Given the description of an element on the screen output the (x, y) to click on. 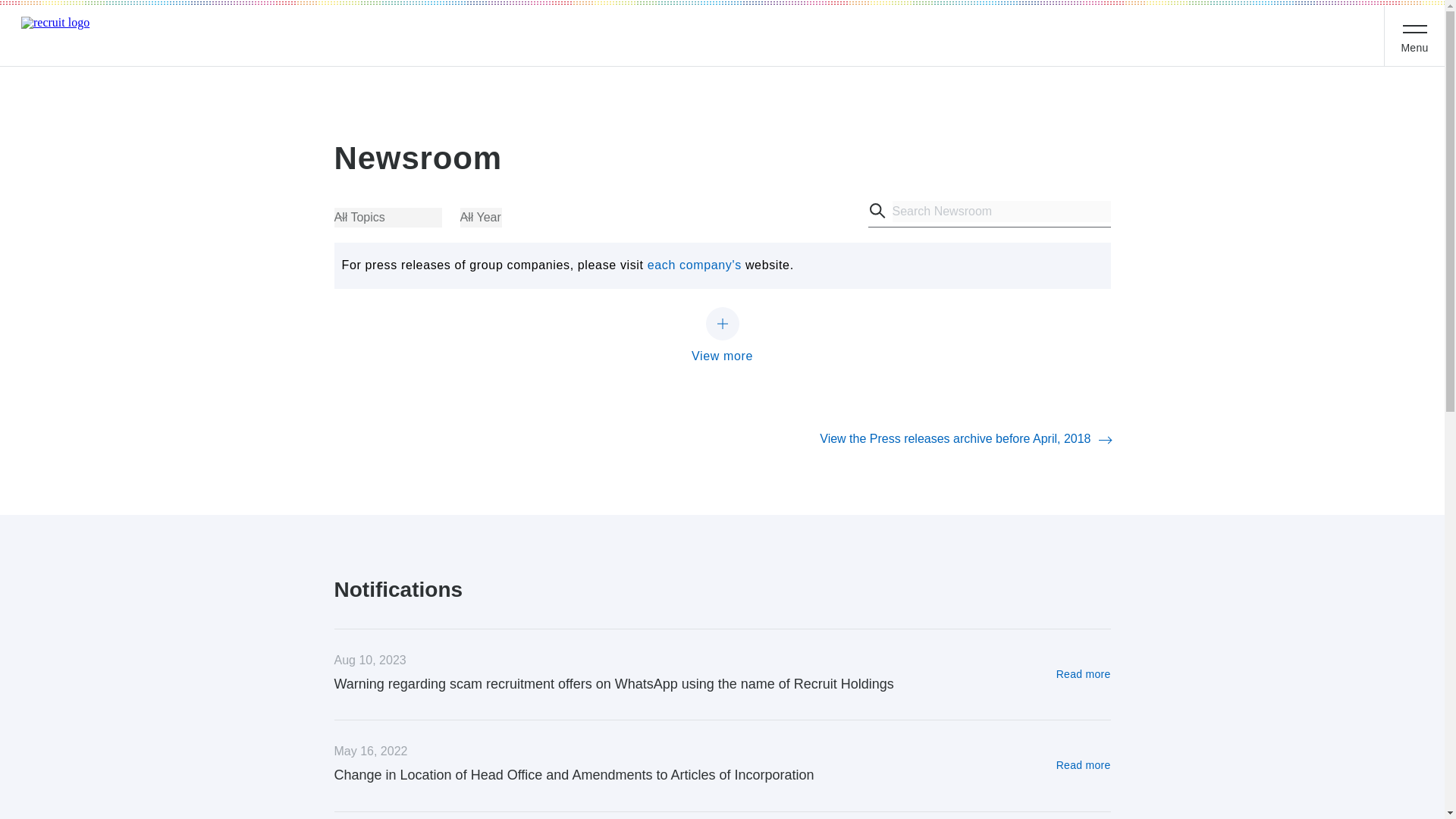
each company's (694, 265)
View the Press releases archive before April, 2018 (964, 439)
